Given the description of an element on the screen output the (x, y) to click on. 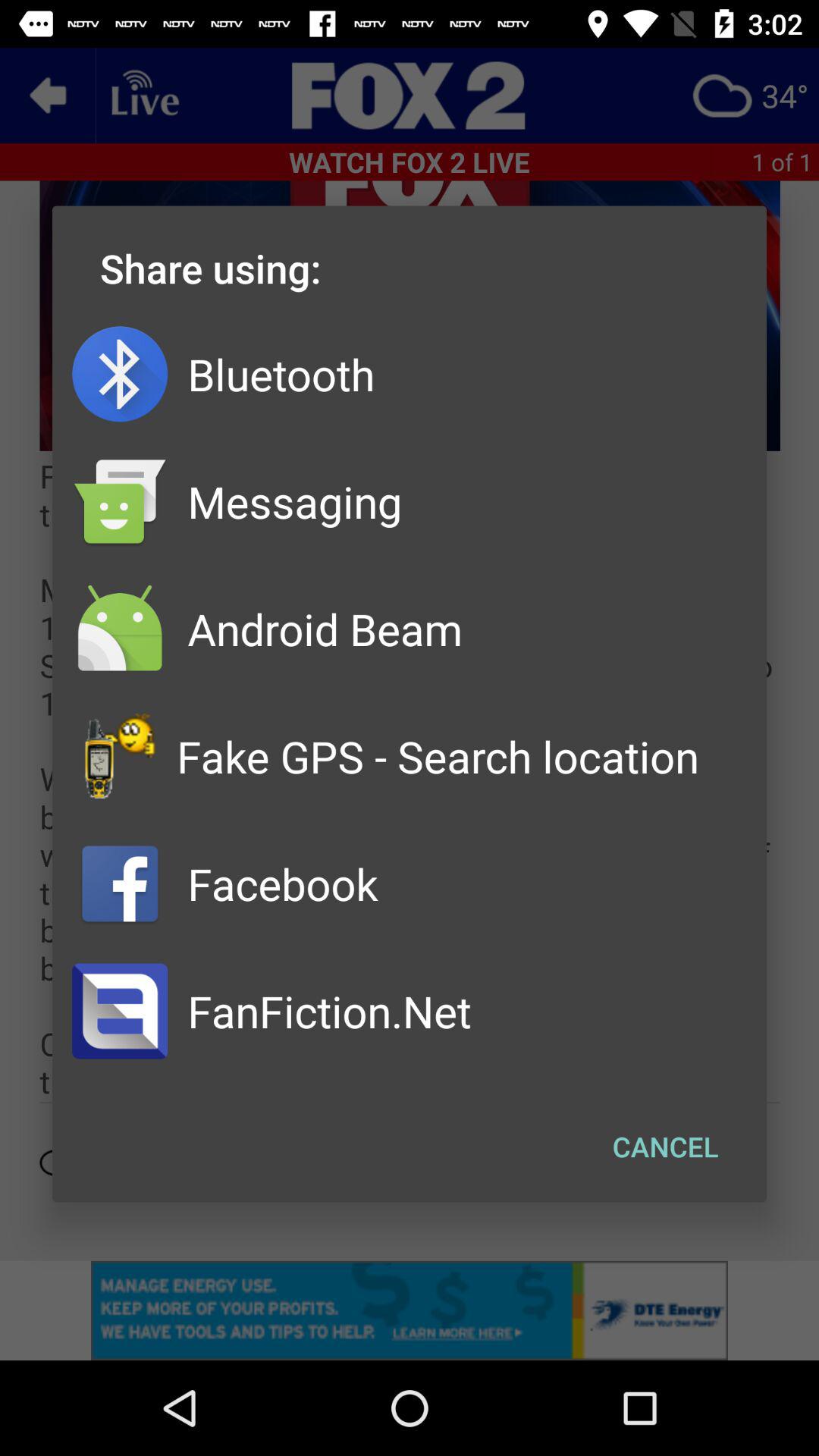
choose button at the bottom right corner (665, 1146)
